Given the description of an element on the screen output the (x, y) to click on. 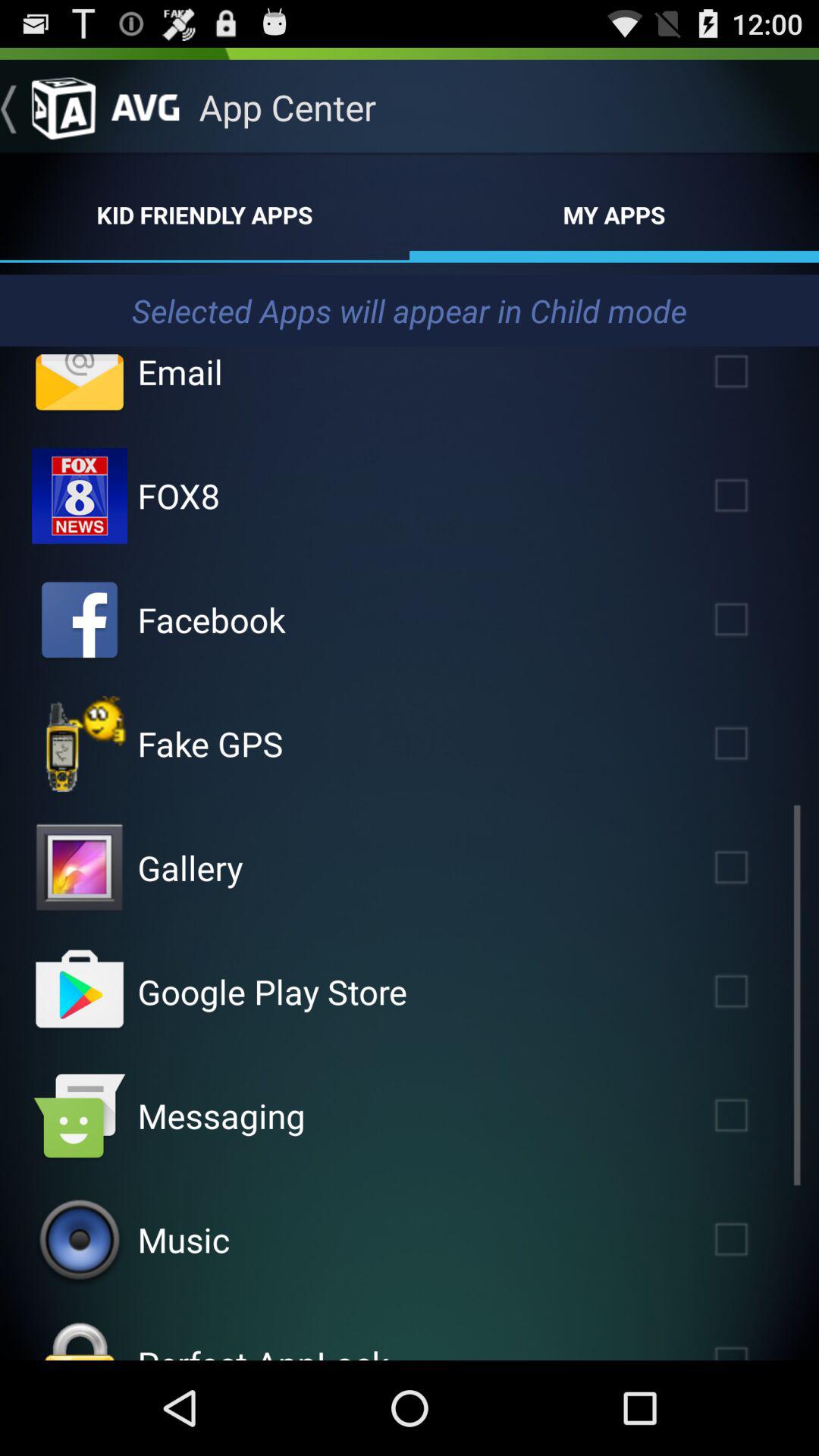
music options (79, 1239)
